Given the description of an element on the screen output the (x, y) to click on. 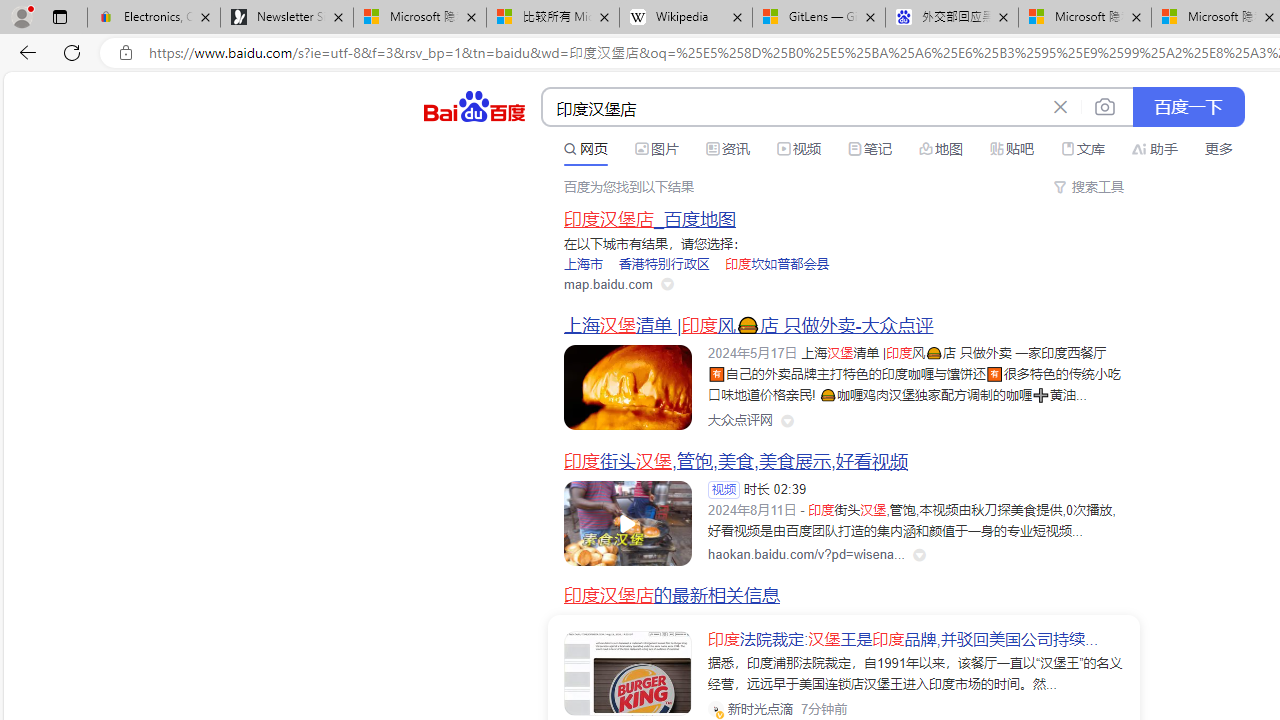
Wikipedia (685, 17)
Newsletter Sign Up (287, 17)
